Given the description of an element on the screen output the (x, y) to click on. 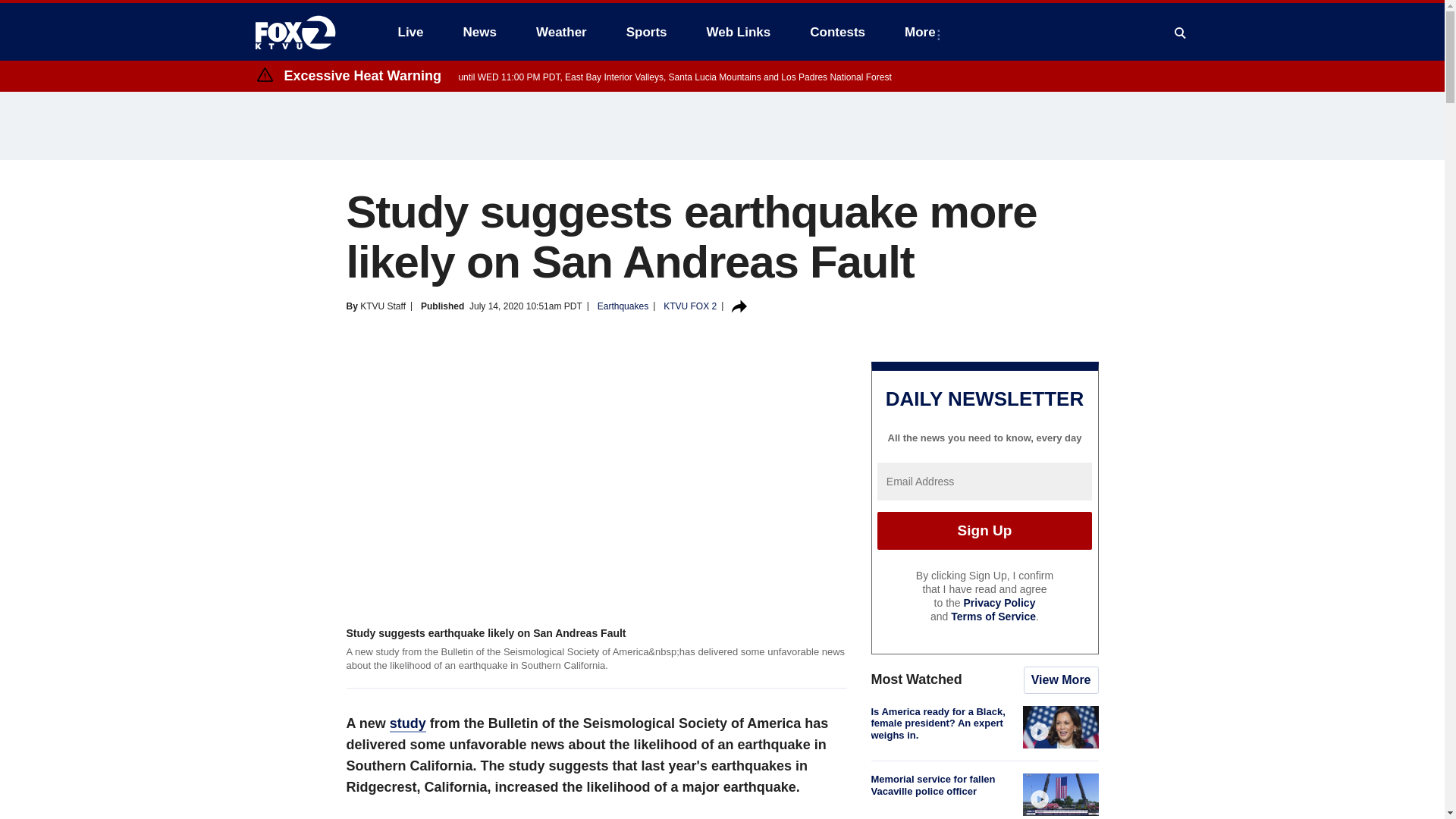
Sign Up (984, 530)
Live (410, 32)
Contests (837, 32)
Weather (561, 32)
More (922, 32)
News (479, 32)
Web Links (738, 32)
Sports (646, 32)
